Given the description of an element on the screen output the (x, y) to click on. 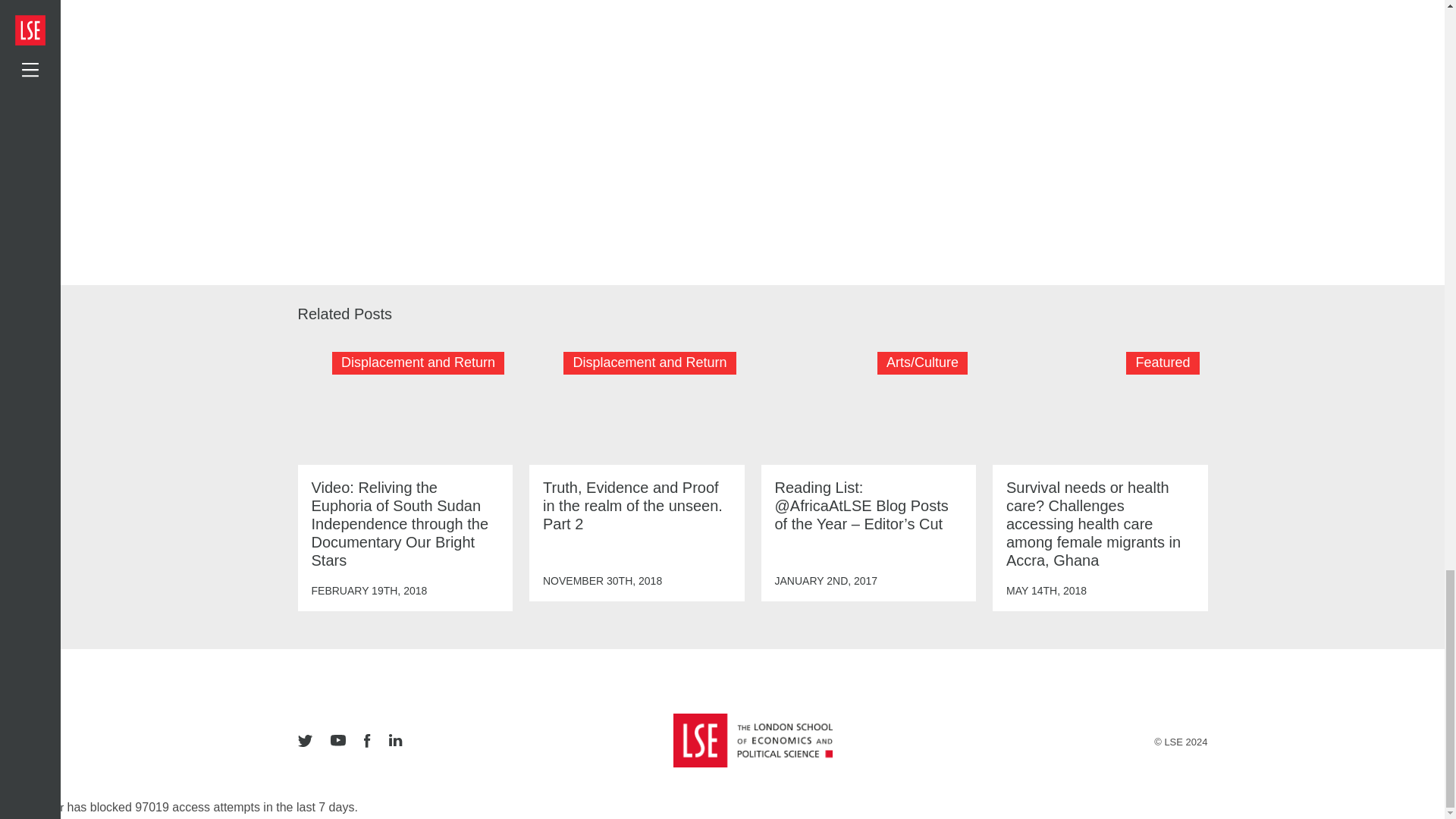
youtube (338, 741)
linkedin (394, 741)
Bad Behavior (32, 807)
